Given the description of an element on the screen output the (x, y) to click on. 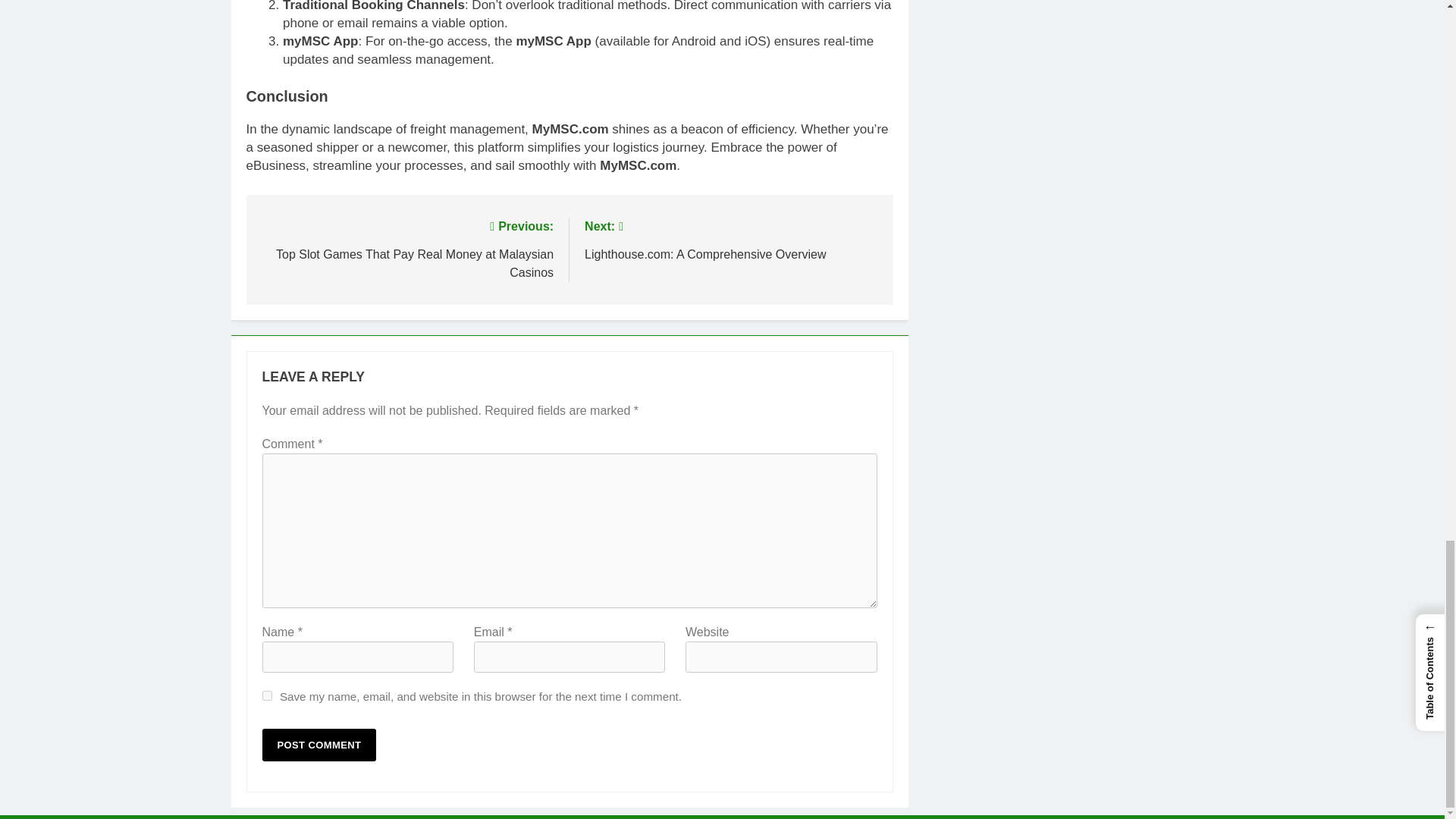
Post Comment (319, 744)
yes (267, 696)
